Given the description of an element on the screen output the (x, y) to click on. 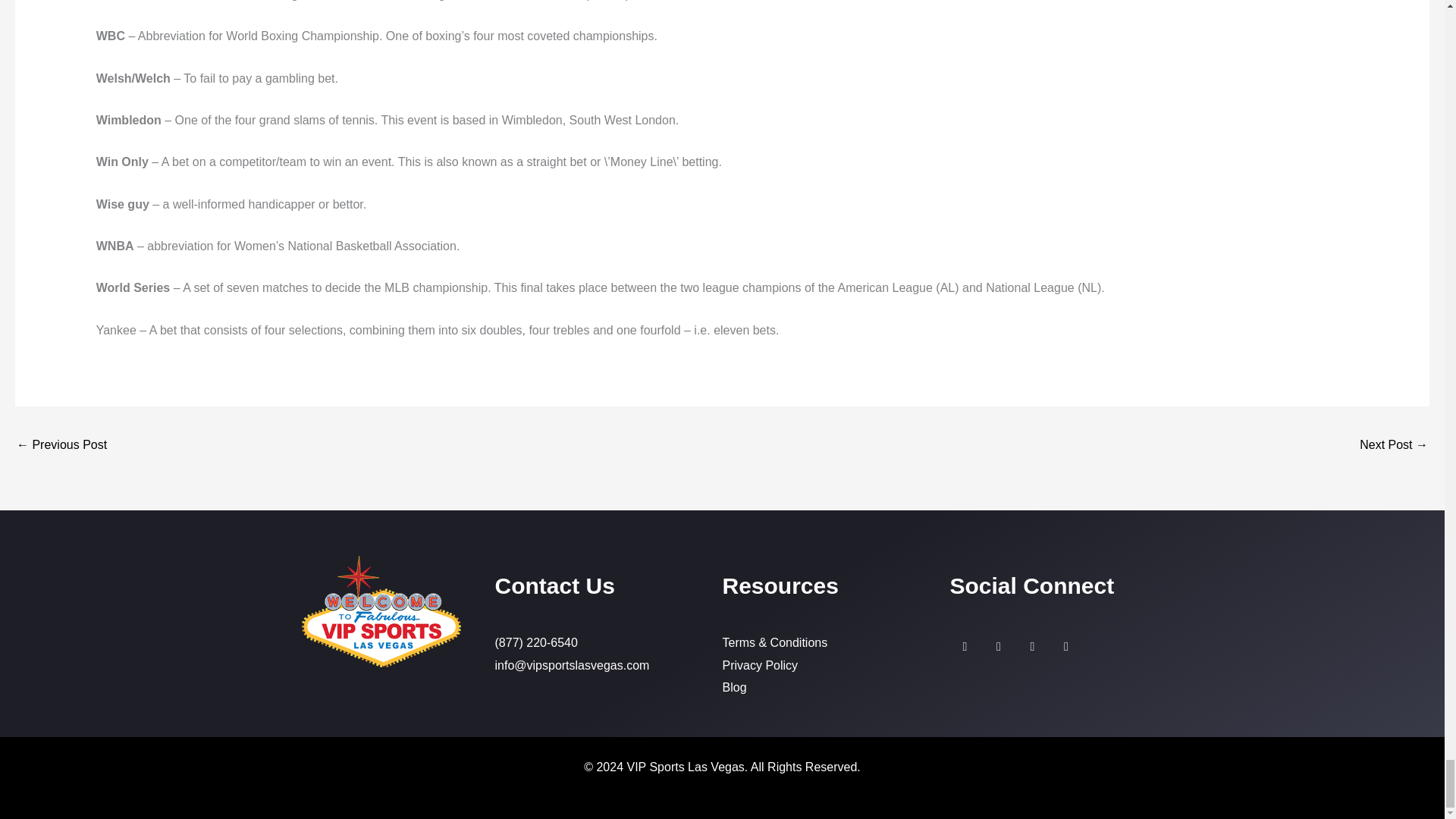
A Beginners Guide: How to Get Better at Sports Betting (1393, 446)
Blog (835, 687)
Become a Better Sports Better With These 6 Tips (61, 446)
Privacy Policy (835, 665)
